Given the description of an element on the screen output the (x, y) to click on. 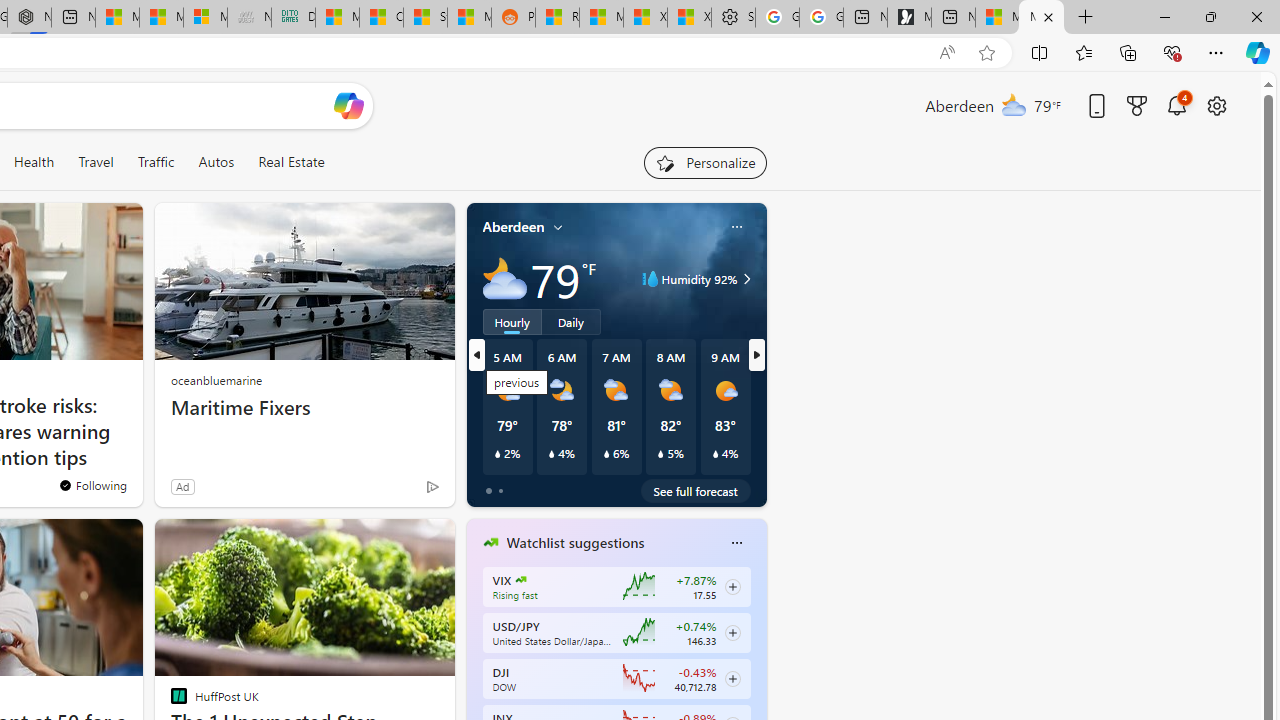
Hide this story (393, 542)
tab-1 (500, 490)
next (756, 670)
Class: icon-img (736, 542)
Real Estate (291, 161)
R******* | Trusted Community Engagement and Contributions (557, 17)
You're following FOX News (92, 485)
